Given the description of an element on the screen output the (x, y) to click on. 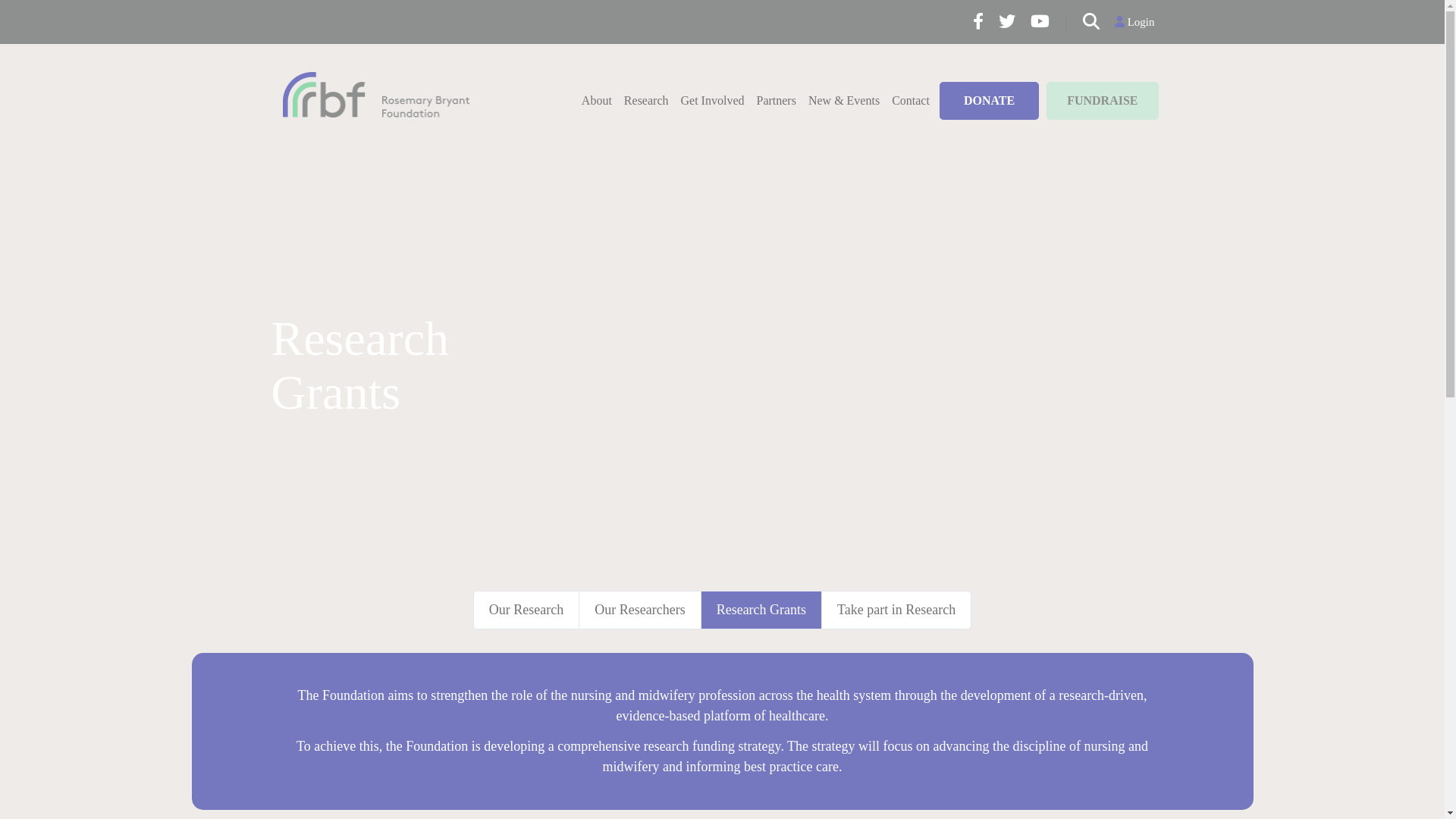
Get Involved Element type: text (712, 99)
Our Research Element type: text (525, 609)
Our Researchers Element type: text (638, 609)
New & Events Element type: text (843, 99)
| Element type: text (1066, 21)
Research Element type: text (646, 99)
Research Grants Element type: text (760, 609)
DONATE Element type: text (988, 100)
Partners Element type: text (775, 99)
Login Element type: text (1134, 21)
About Element type: text (596, 99)
Take part in Research Element type: text (896, 609)
Contact Element type: text (910, 99)
FUNDRAISE Element type: text (1101, 100)
